Given the description of an element on the screen output the (x, y) to click on. 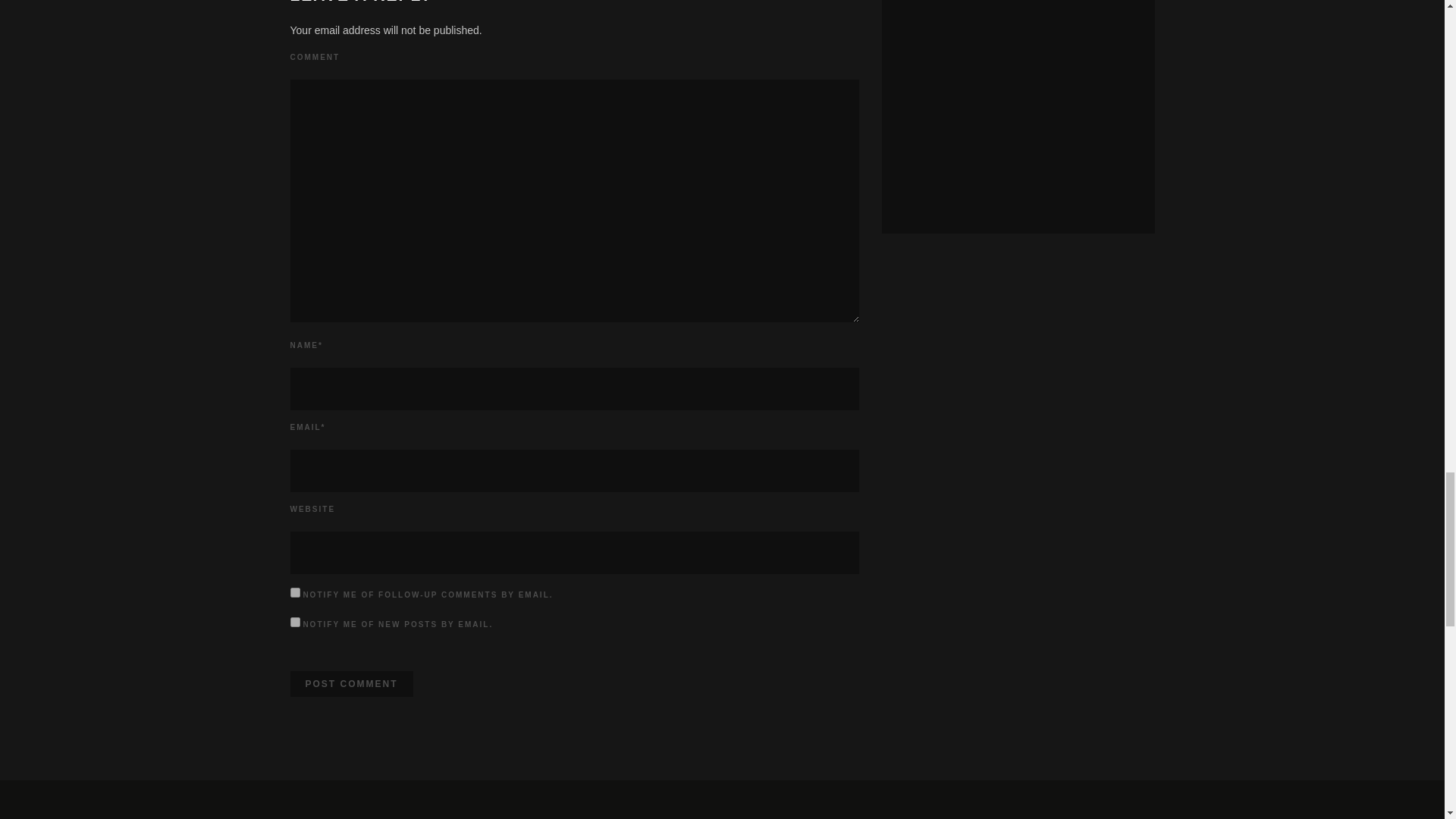
subscribe (294, 592)
subscribe (294, 622)
Post Comment (350, 683)
